Given the description of an element on the screen output the (x, y) to click on. 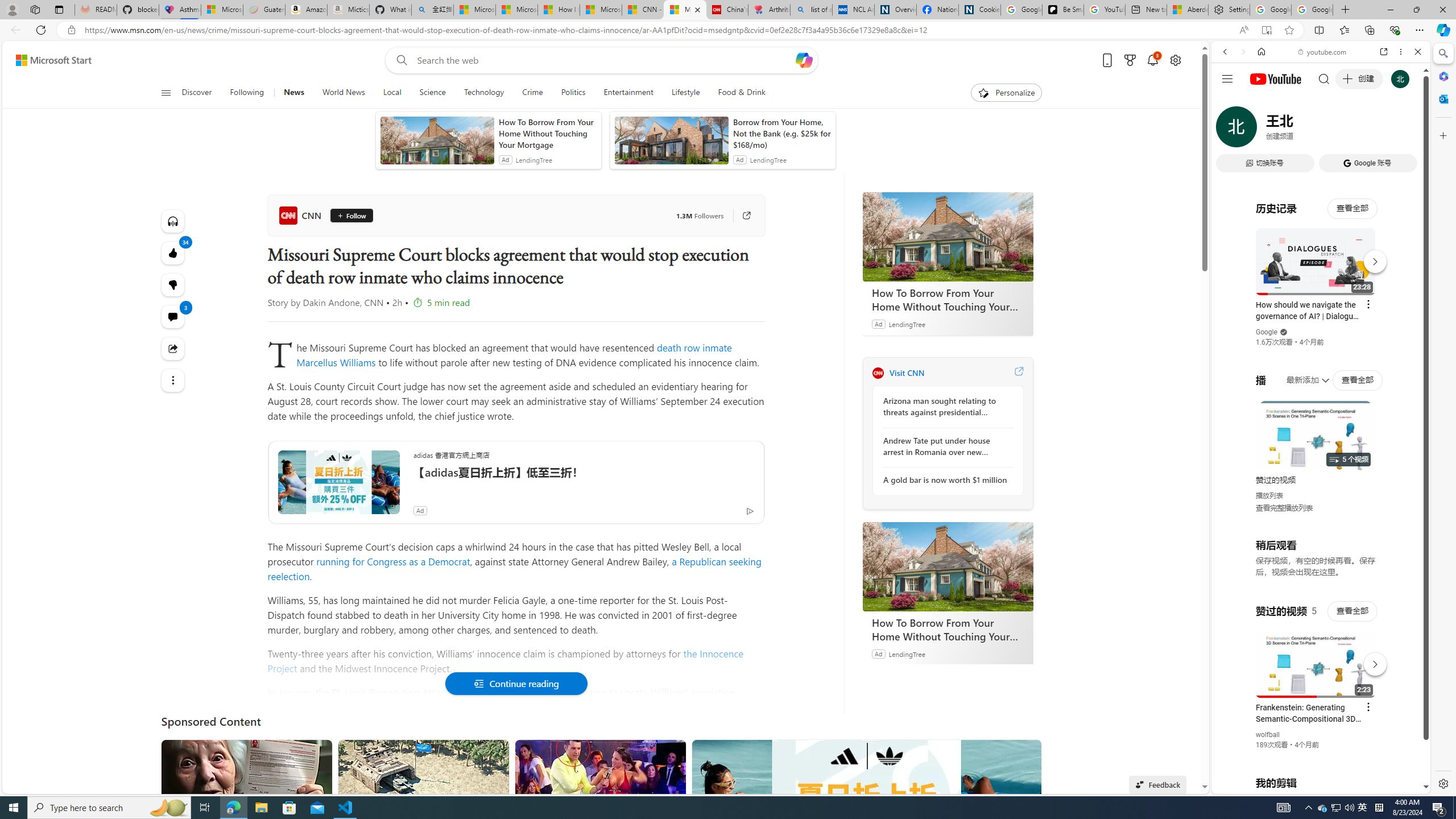
App bar (728, 29)
Search videos from youtube.com (1299, 373)
Open link in new tab (1383, 51)
Dislike (172, 284)
list of asthma inhalers uk - Search (810, 9)
Favorites (1344, 29)
New tab (1146, 9)
